Given the description of an element on the screen output the (x, y) to click on. 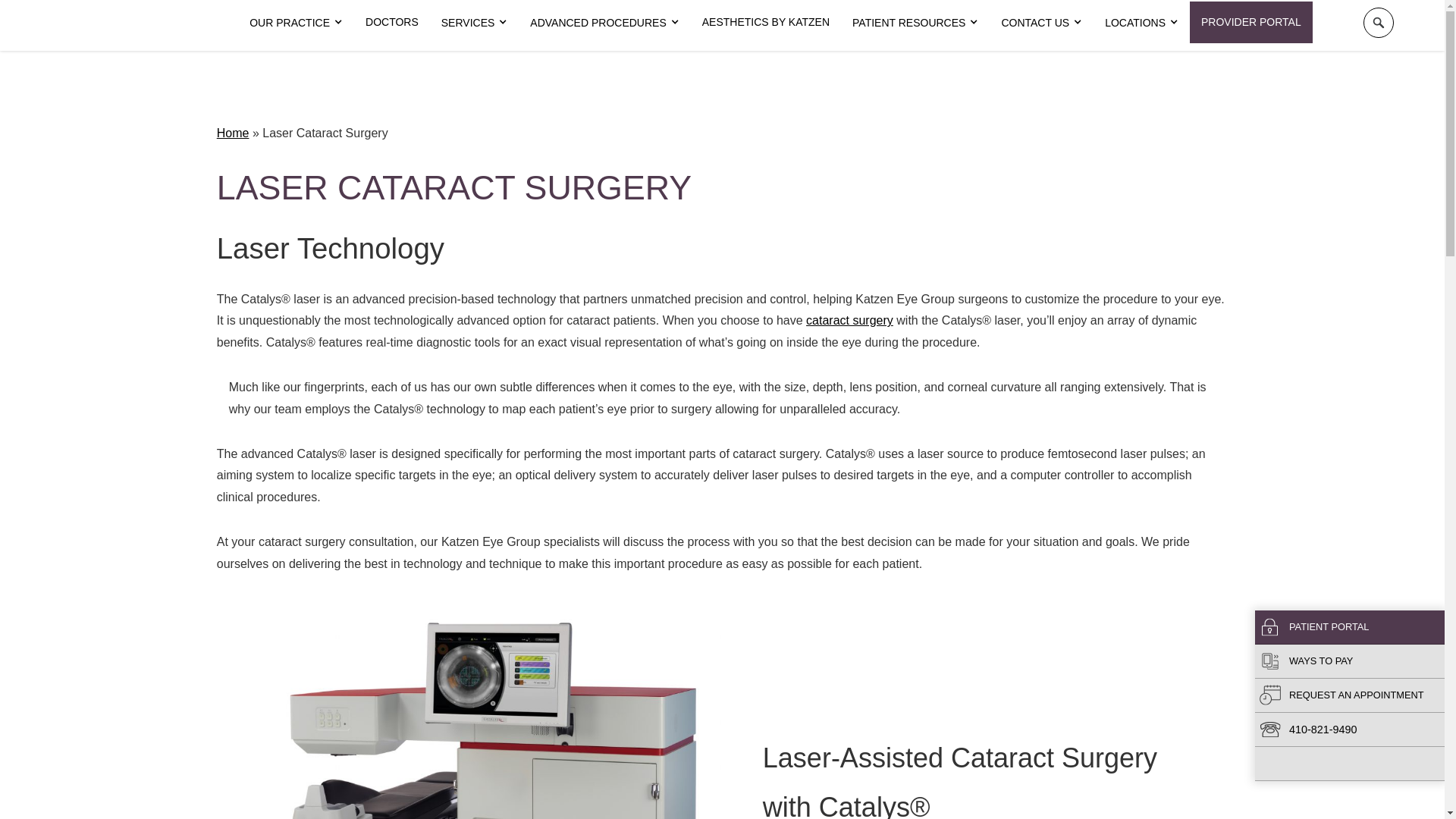
OUR PRACTICE (295, 22)
Dropdown Menu (295, 22)
Doctors (391, 21)
PATIENT RESOURCES (915, 22)
ADVANCED PROCEDURES (604, 22)
AESTHETICS BY KATZEN (765, 21)
SERVICES (474, 22)
Go to homepage (118, 22)
Menu Dropdown (474, 22)
DOCTORS (391, 21)
